Given the description of an element on the screen output the (x, y) to click on. 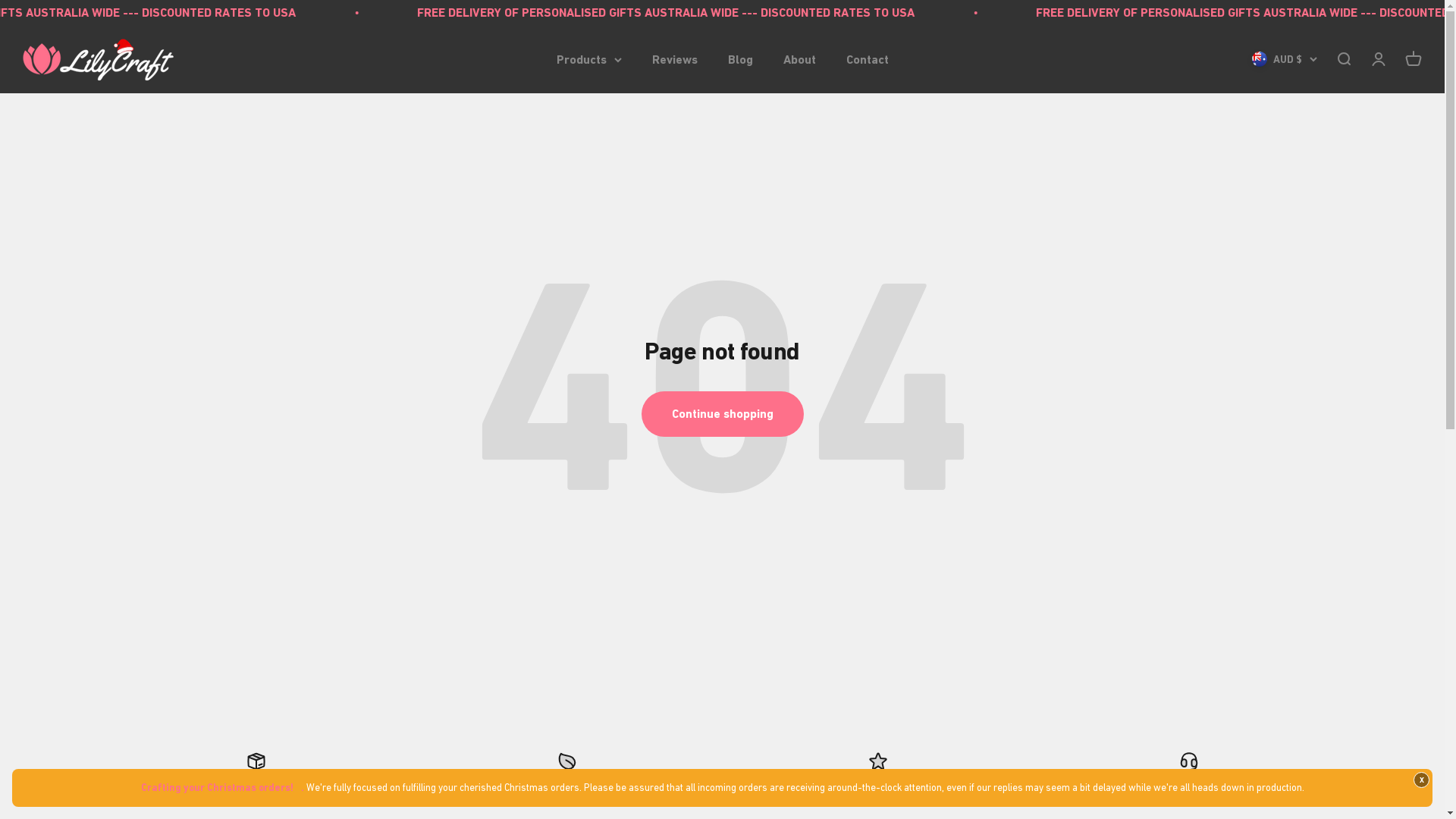
X Element type: text (1421, 779)
About Element type: text (798, 58)
Blog Element type: text (740, 58)
Reviews Element type: text (674, 58)
Open account page Element type: text (1378, 58)
Open search Element type: text (1343, 58)
LilyCraft Element type: text (98, 59)
Continue shopping Element type: text (722, 413)
Contact Element type: text (867, 58)
AUD $ Element type: text (1284, 58)
Open cart
0 Element type: text (1413, 58)
